Given the description of an element on the screen output the (x, y) to click on. 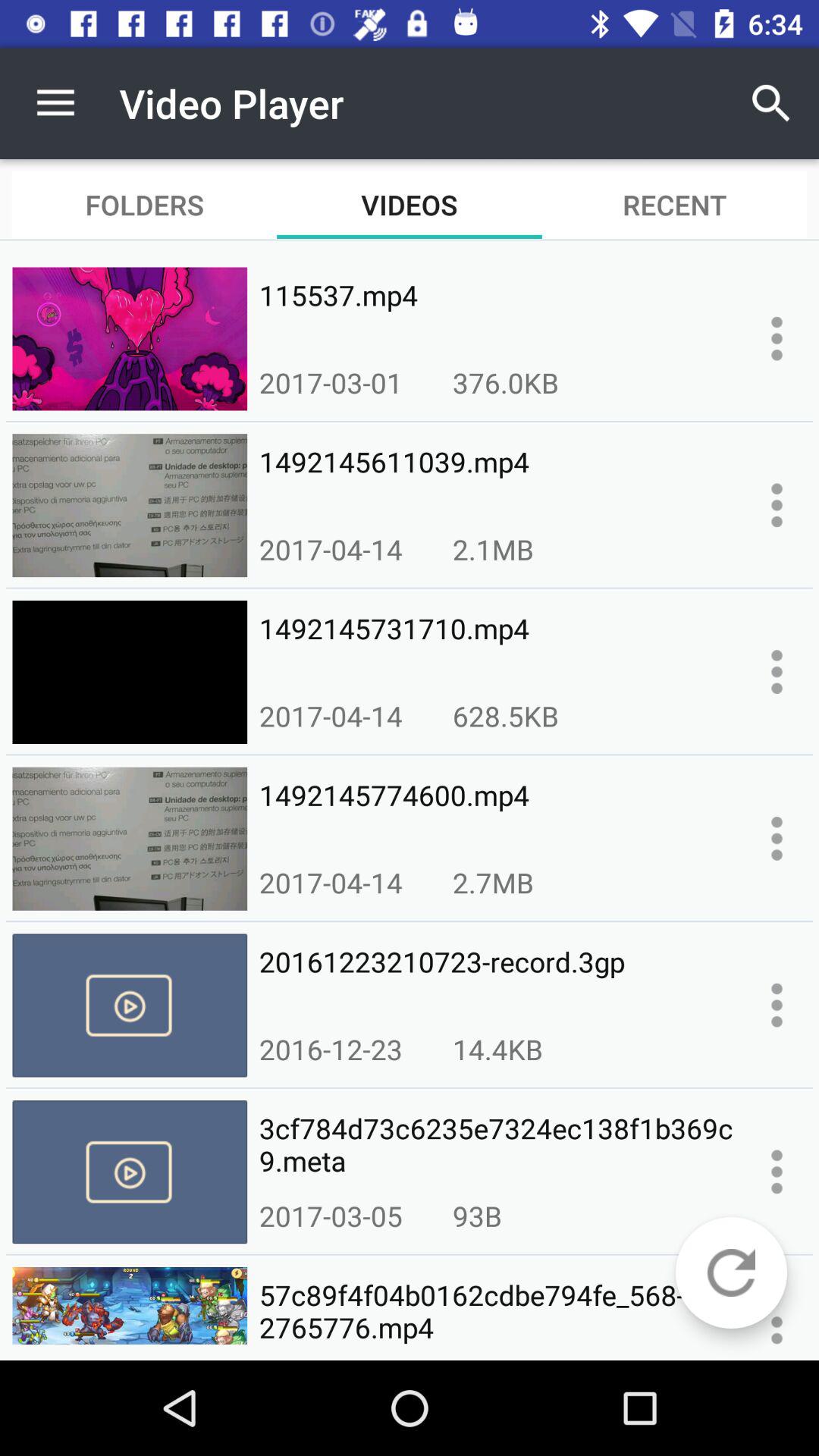
refresh (731, 1272)
